Given the description of an element on the screen output the (x, y) to click on. 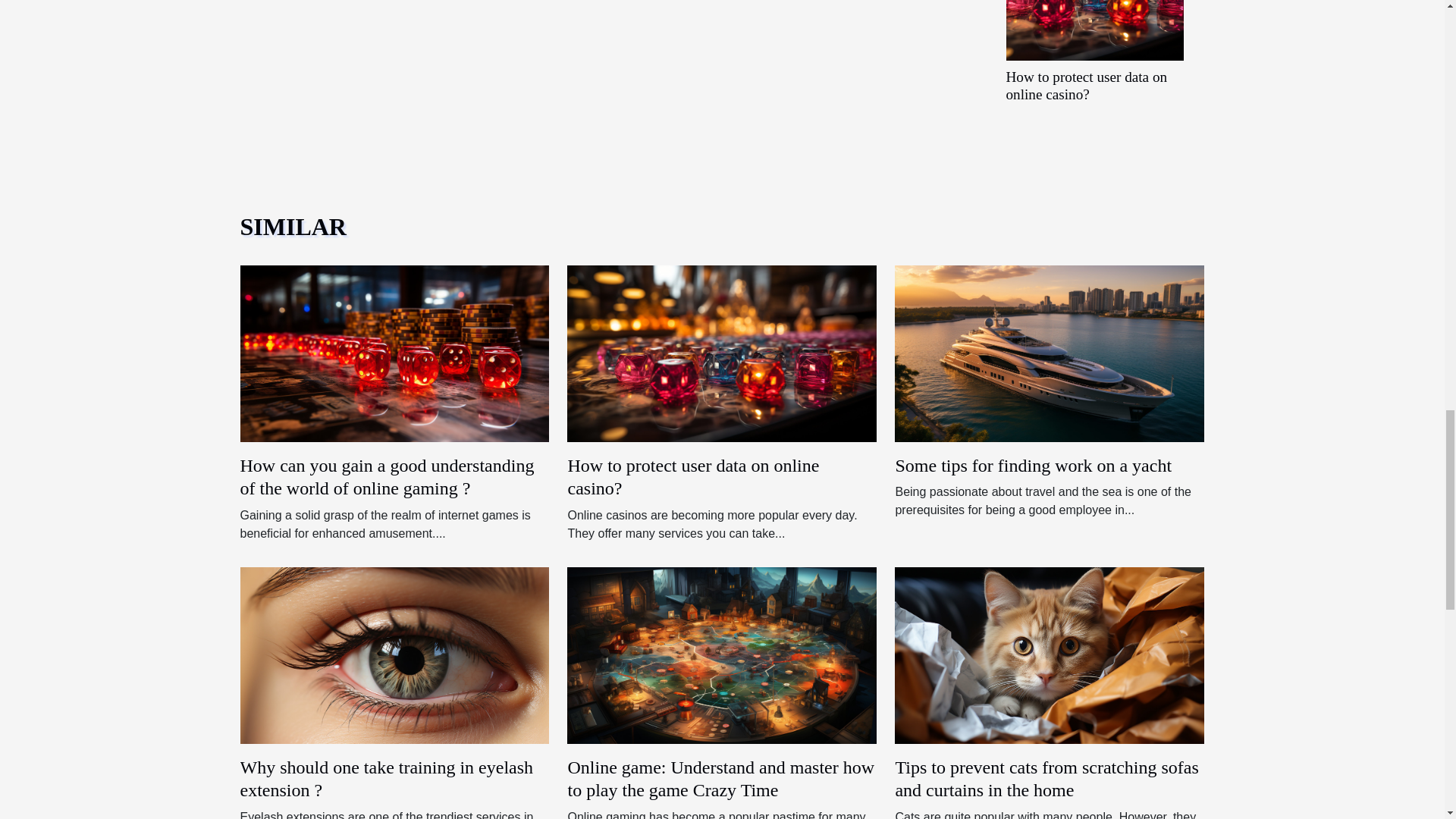
How to protect user data on online casino? (692, 476)
How to protect user data on online casino? (1086, 85)
Some tips for finding work on a yacht (1033, 465)
How to protect user data on online casino? (1086, 85)
Some tips for finding work on a yacht (1033, 465)
Some tips for finding work on a yacht (1049, 352)
How to protect user data on online casino? (721, 352)
Why should one take training in eyelash extension ? (386, 778)
Why should one take training in eyelash extension ? (394, 654)
